Given the description of an element on the screen output the (x, y) to click on. 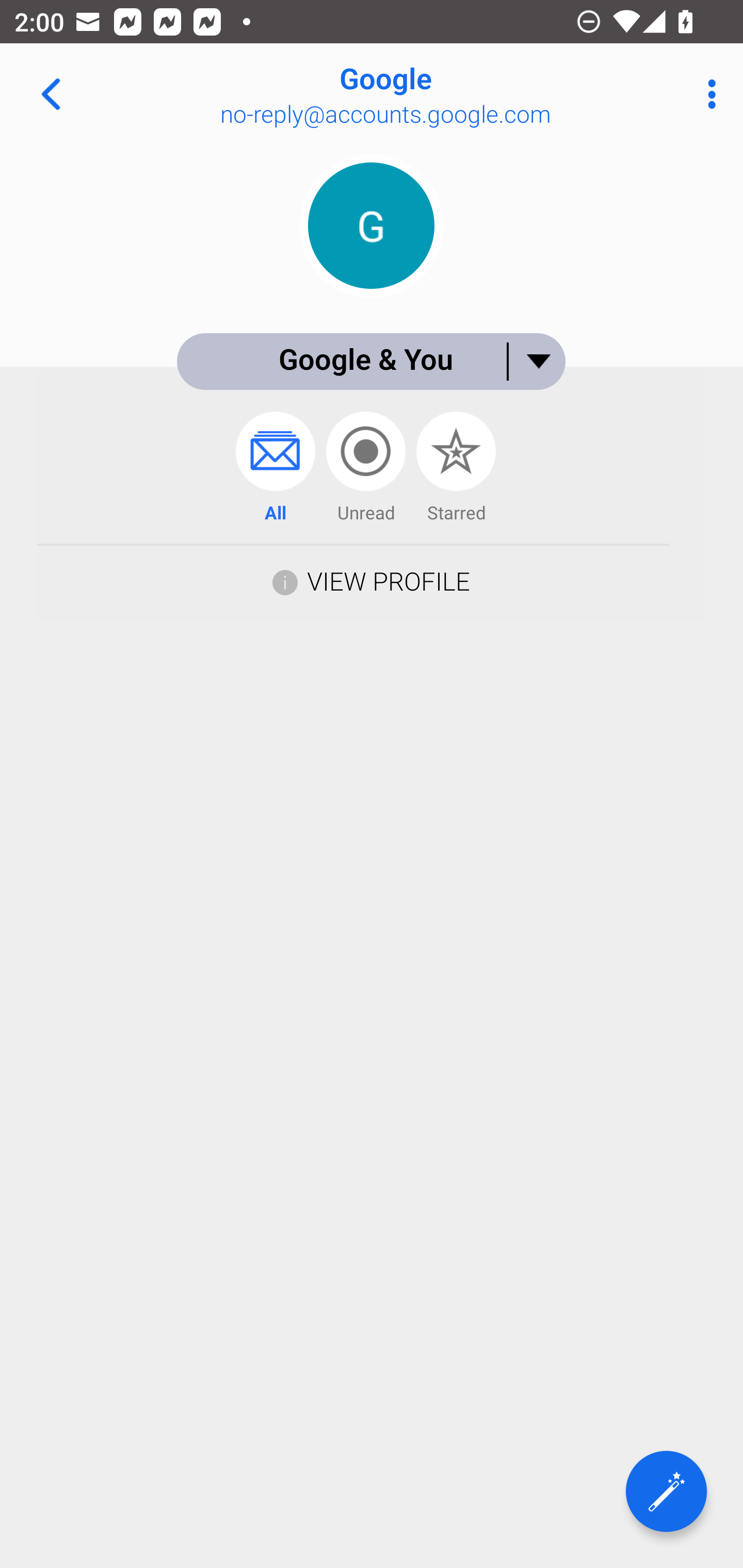
VIEW PROFILE (371, 580)
VIEW PROFILE (388, 580)
